Given the description of an element on the screen output the (x, y) to click on. 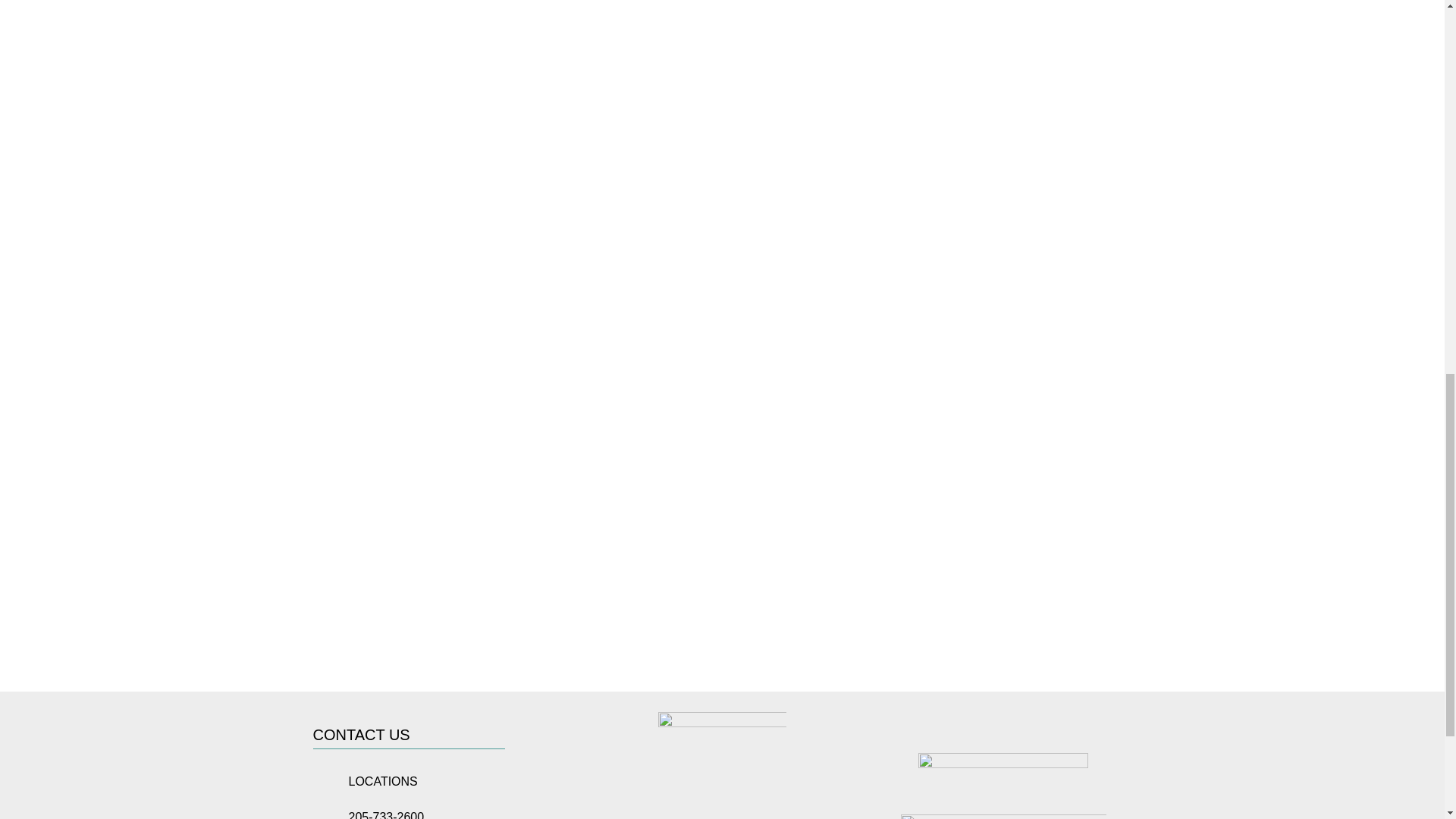
unnamed-1 (1002, 764)
unnamed-3 (722, 765)
unnamed-5 (1003, 816)
